Given the description of an element on the screen output the (x, y) to click on. 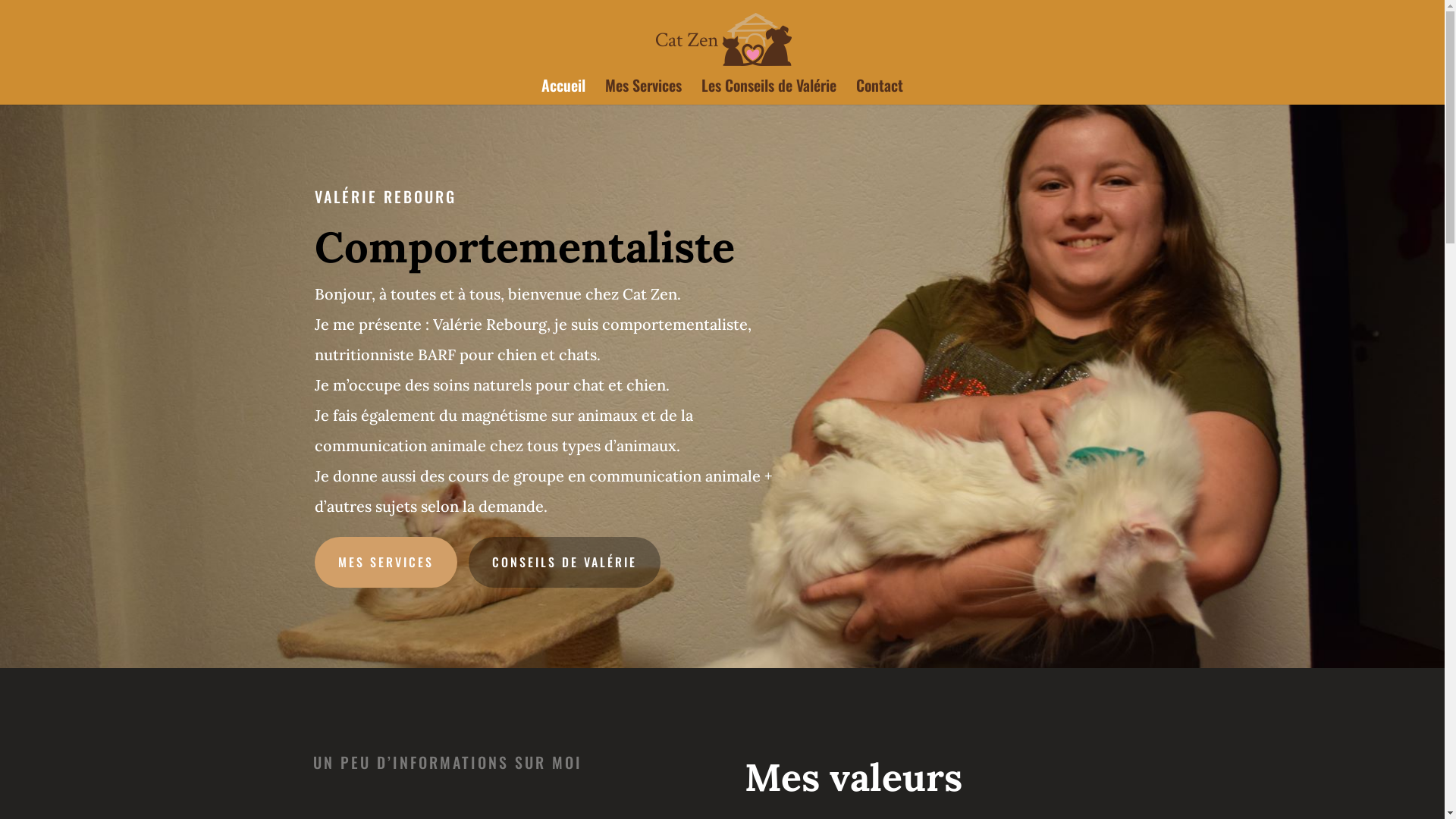
MES SERVICES Element type: text (384, 561)
Contact Element type: text (879, 91)
Mes Services Element type: text (643, 91)
Accueil Element type: text (563, 91)
